Given the description of an element on the screen output the (x, y) to click on. 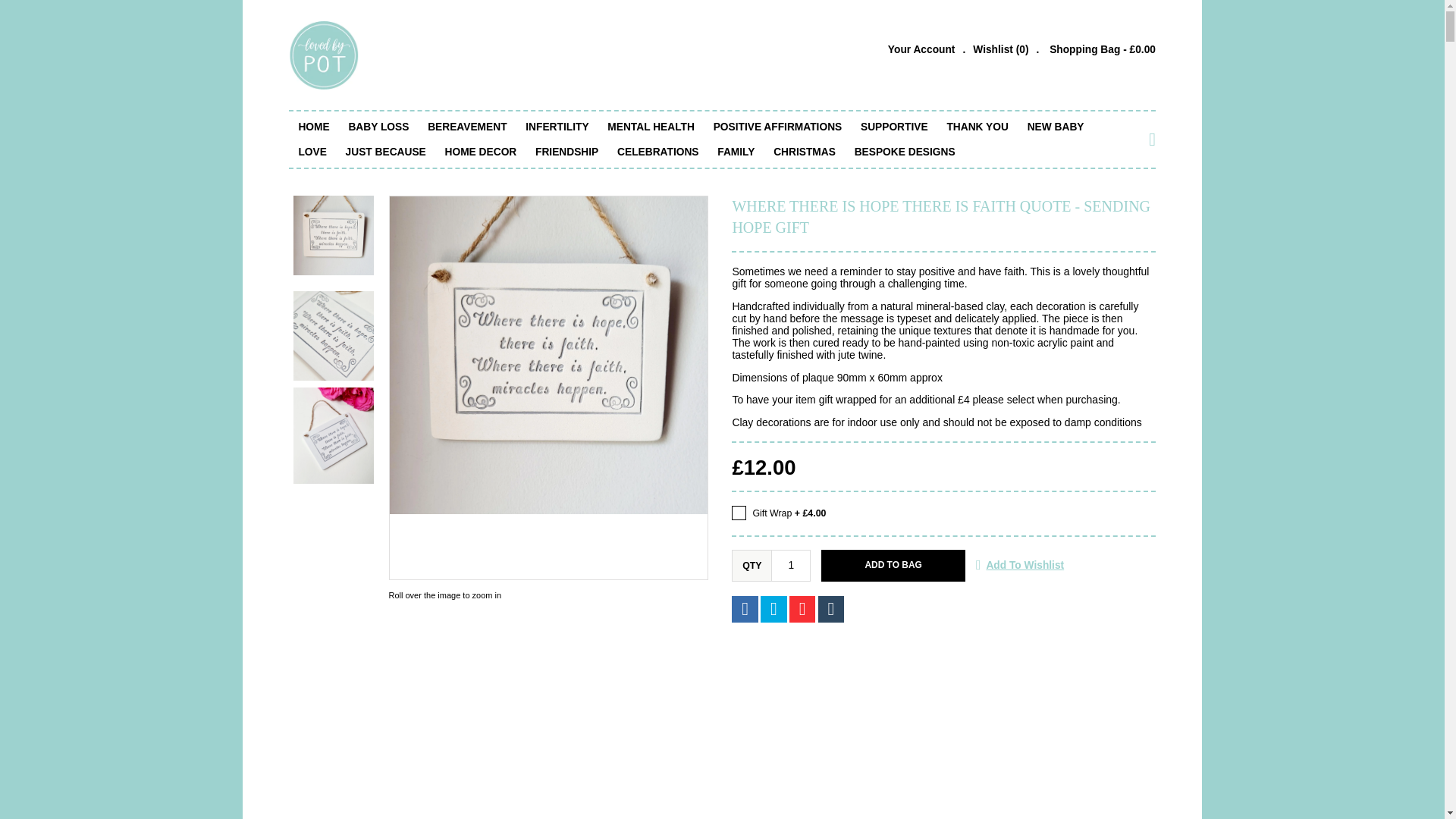
1 (790, 565)
